Given the description of an element on the screen output the (x, y) to click on. 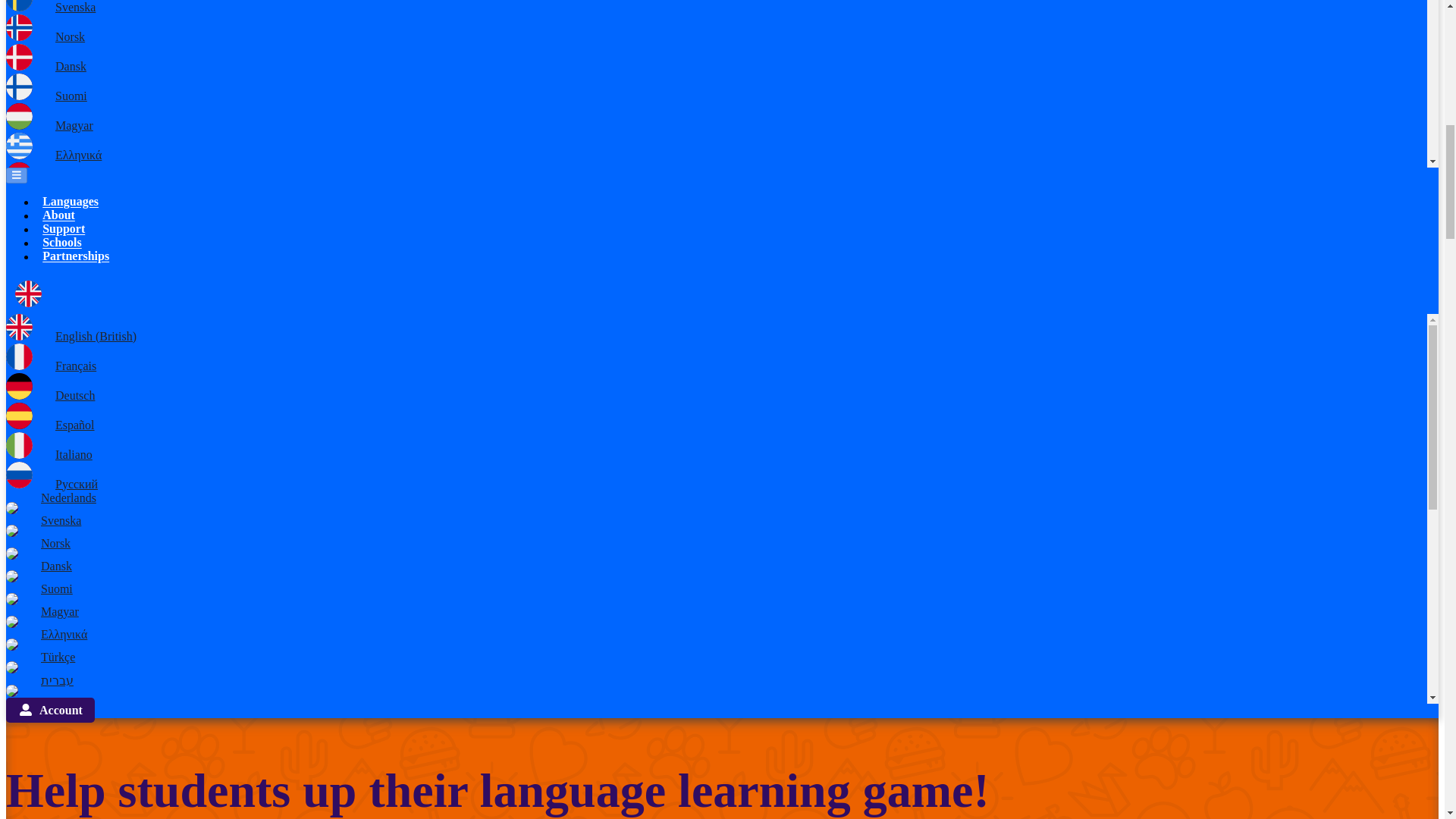
Magyar (49, 124)
Languages (70, 201)
Norsk (44, 36)
Bahasa Indonesia (72, 476)
Svenska (50, 6)
Suomi (46, 95)
Polski (38, 378)
Dansk (45, 65)
